Given the description of an element on the screen output the (x, y) to click on. 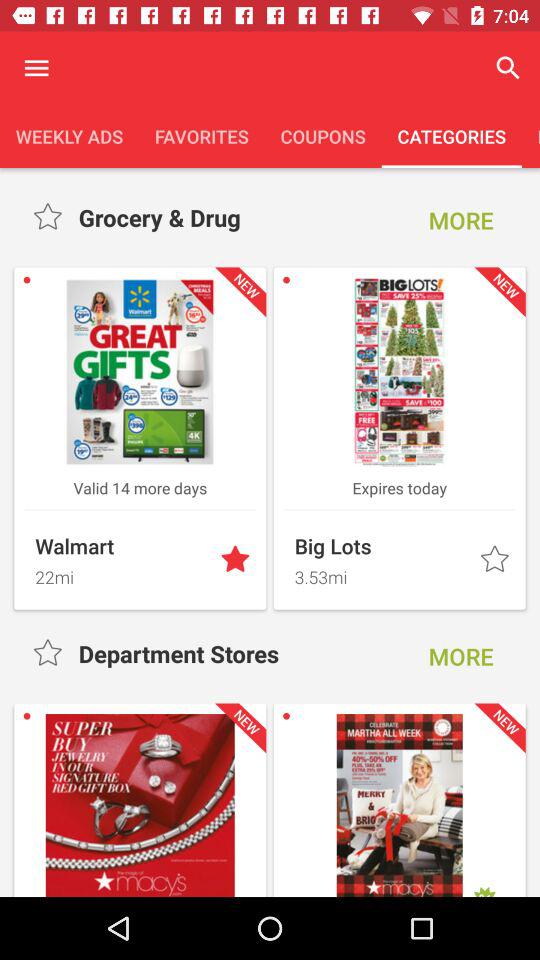
highlight (237, 559)
